Given the description of an element on the screen output the (x, y) to click on. 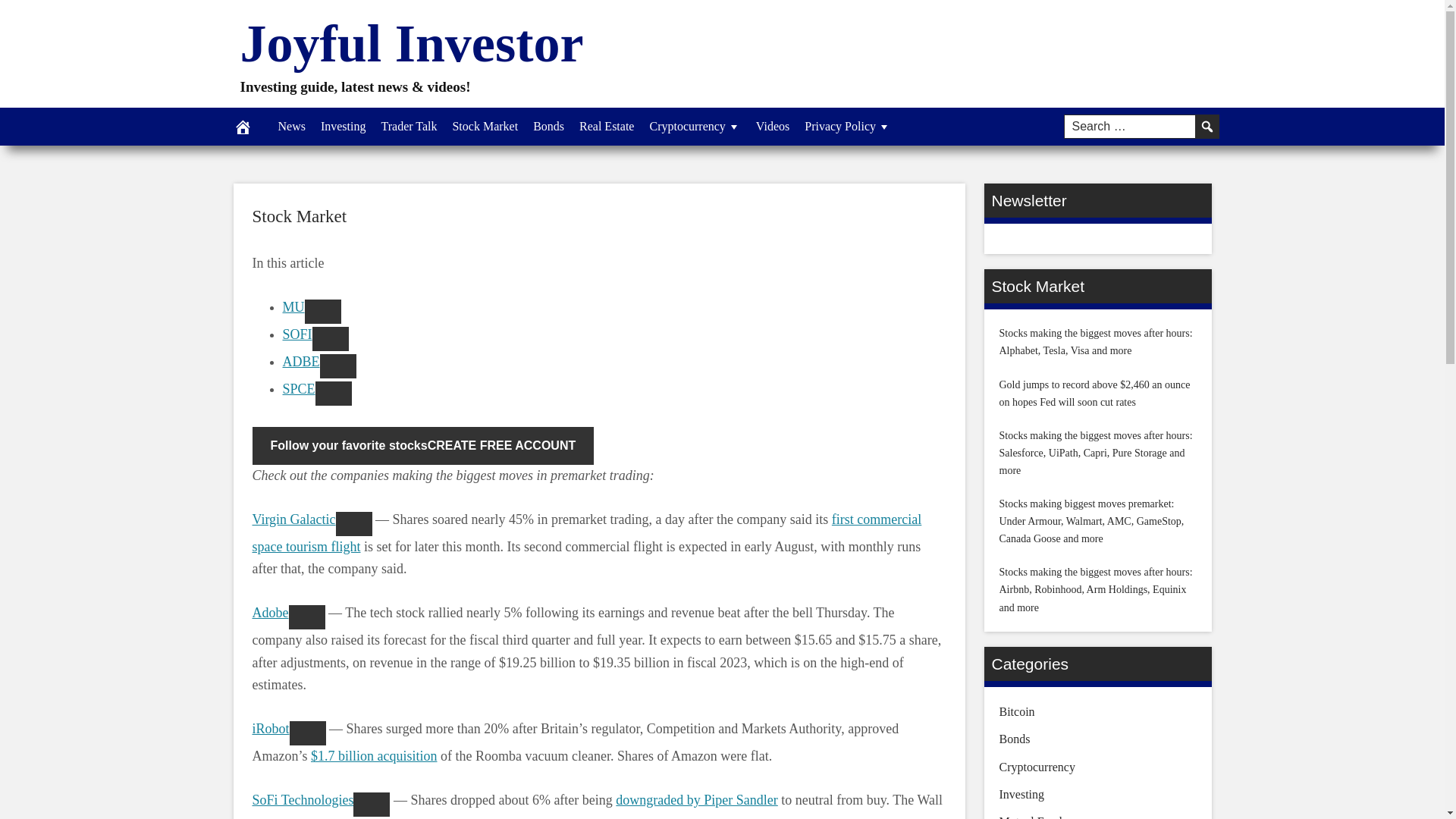
MU (293, 306)
Investing (343, 126)
Videos (772, 126)
News (291, 126)
Privacy Policy (847, 126)
Trader Talk (408, 126)
Joyful Investor (411, 43)
Stock Market (484, 126)
Stock Market (298, 216)
Real Estate (607, 126)
Stock Market (298, 216)
Cryptocurrency (695, 126)
Bonds (548, 126)
SOFI (296, 334)
